Given the description of an element on the screen output the (x, y) to click on. 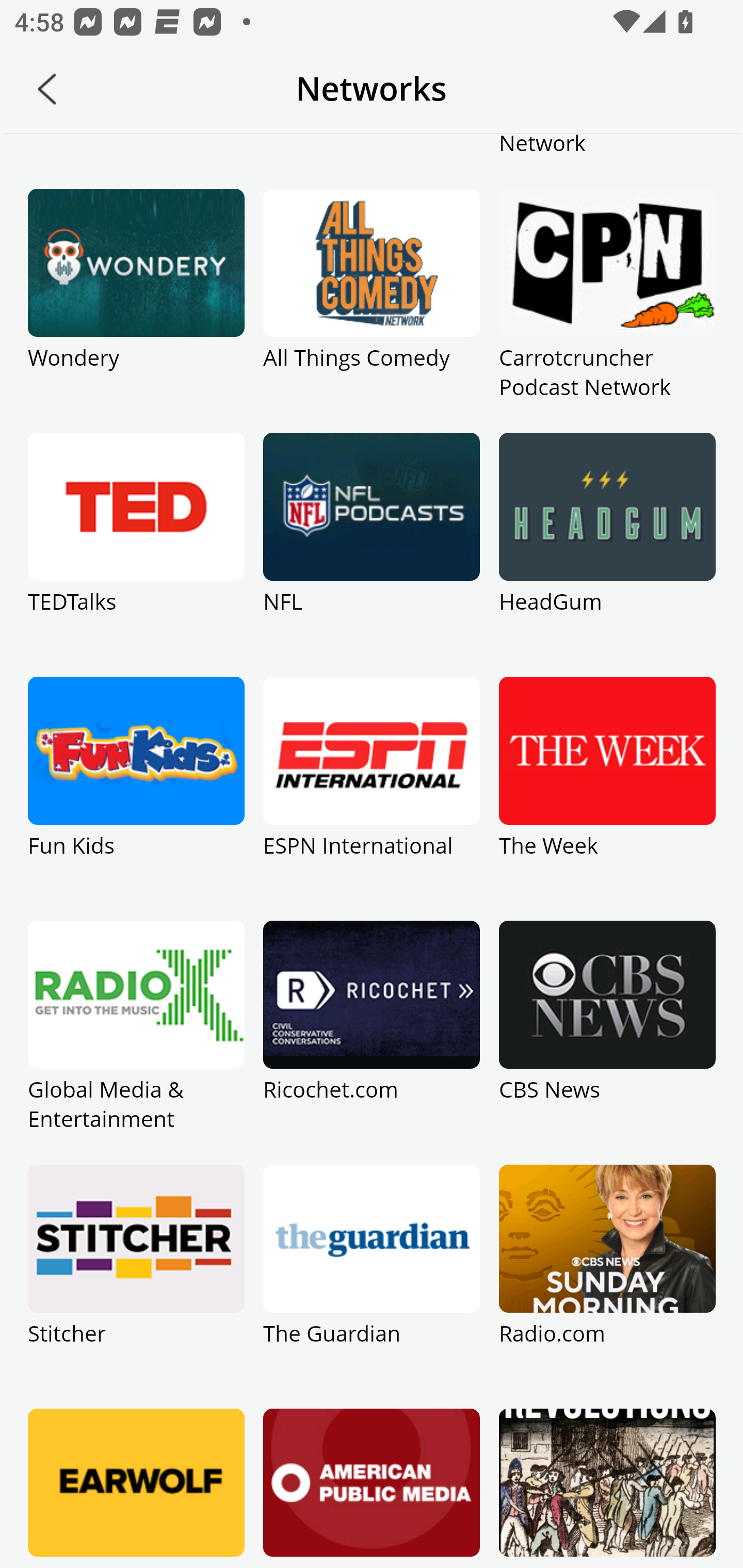
Back (46, 88)
Wondery (135, 310)
All Things Comedy (371, 310)
Carrotcruncher Podcast Network (606, 310)
TEDTalks (135, 554)
NFL (371, 554)
HeadGum (606, 554)
Fun Kids (135, 798)
ESPN International (371, 798)
The Week (606, 798)
Global Media & Entertainment (135, 1042)
Ricochet.com (371, 1042)
CBS News (606, 1042)
Stitcher (135, 1286)
The Guardian (371, 1286)
Radio.com (606, 1286)
Earwolf (135, 1488)
American Public Media (371, 1488)
Mike Duncan (606, 1488)
